Given the description of an element on the screen output the (x, y) to click on. 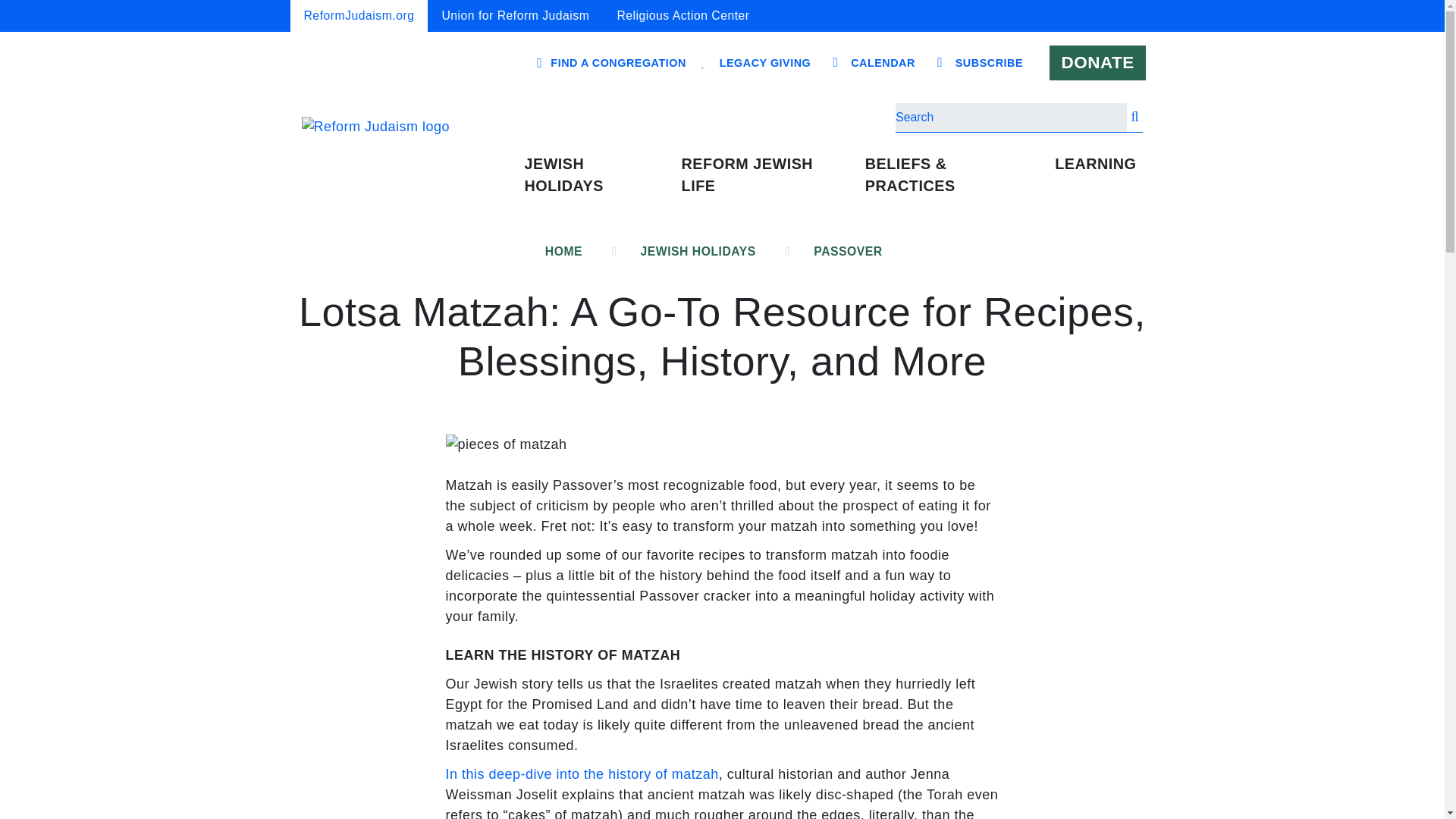
CALENDAR (882, 63)
REFORM JEWISH LIFE (767, 175)
LEGACY GIVING (765, 63)
ReformJudaism.org (358, 15)
SUBSCRIBE (989, 63)
JEWISH HOLIDAYS (595, 175)
Union for Reform Judaism (515, 15)
Skip to main content (721, 1)
Religious Action Center (682, 15)
FIND A CONGREGATION (617, 62)
